Given the description of an element on the screen output the (x, y) to click on. 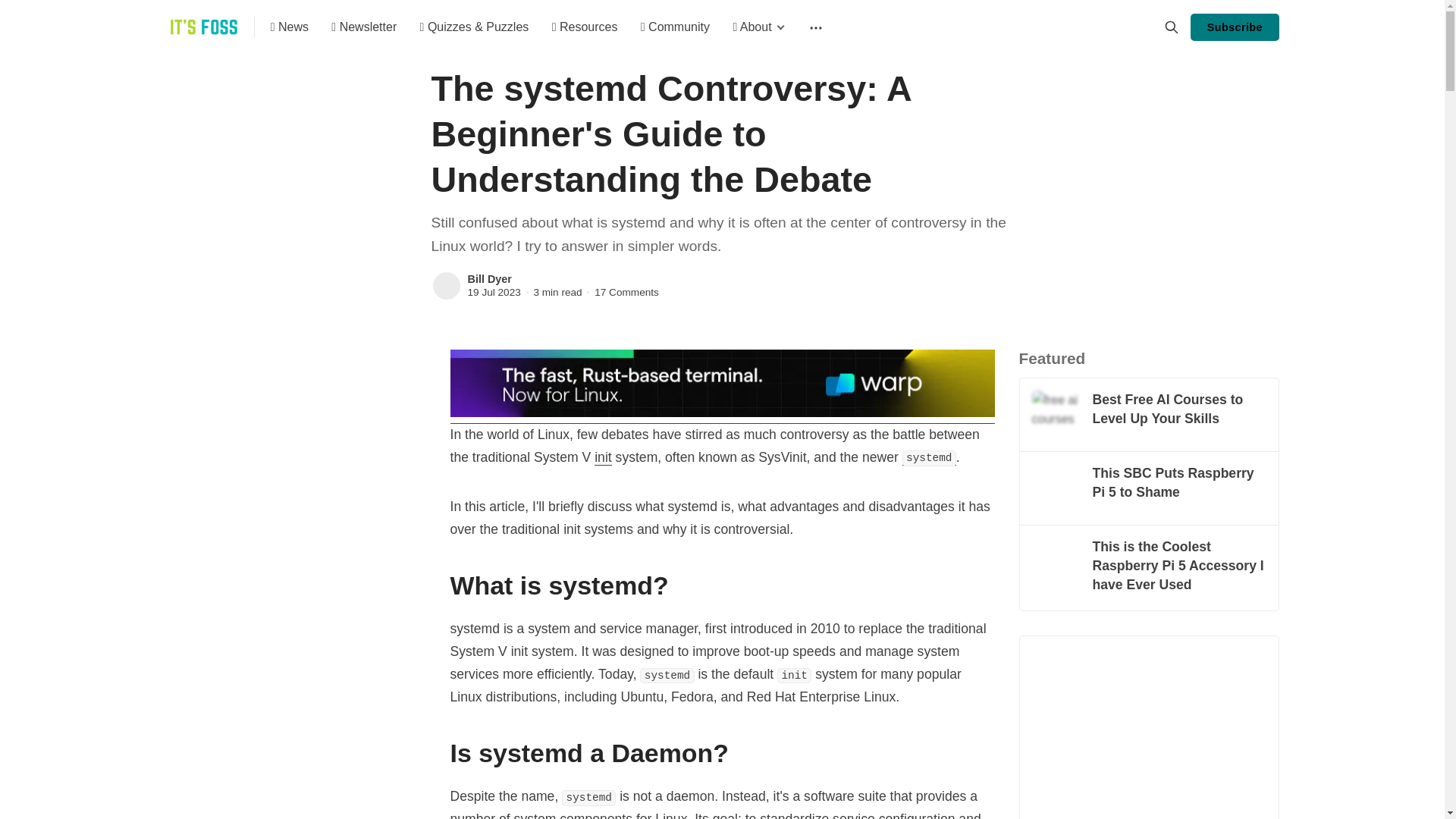
systemd (929, 457)
Subscribe (1234, 26)
Bill Dyer (489, 278)
Search (1171, 26)
Bill Dyer (445, 286)
init (602, 457)
